Given the description of an element on the screen output the (x, y) to click on. 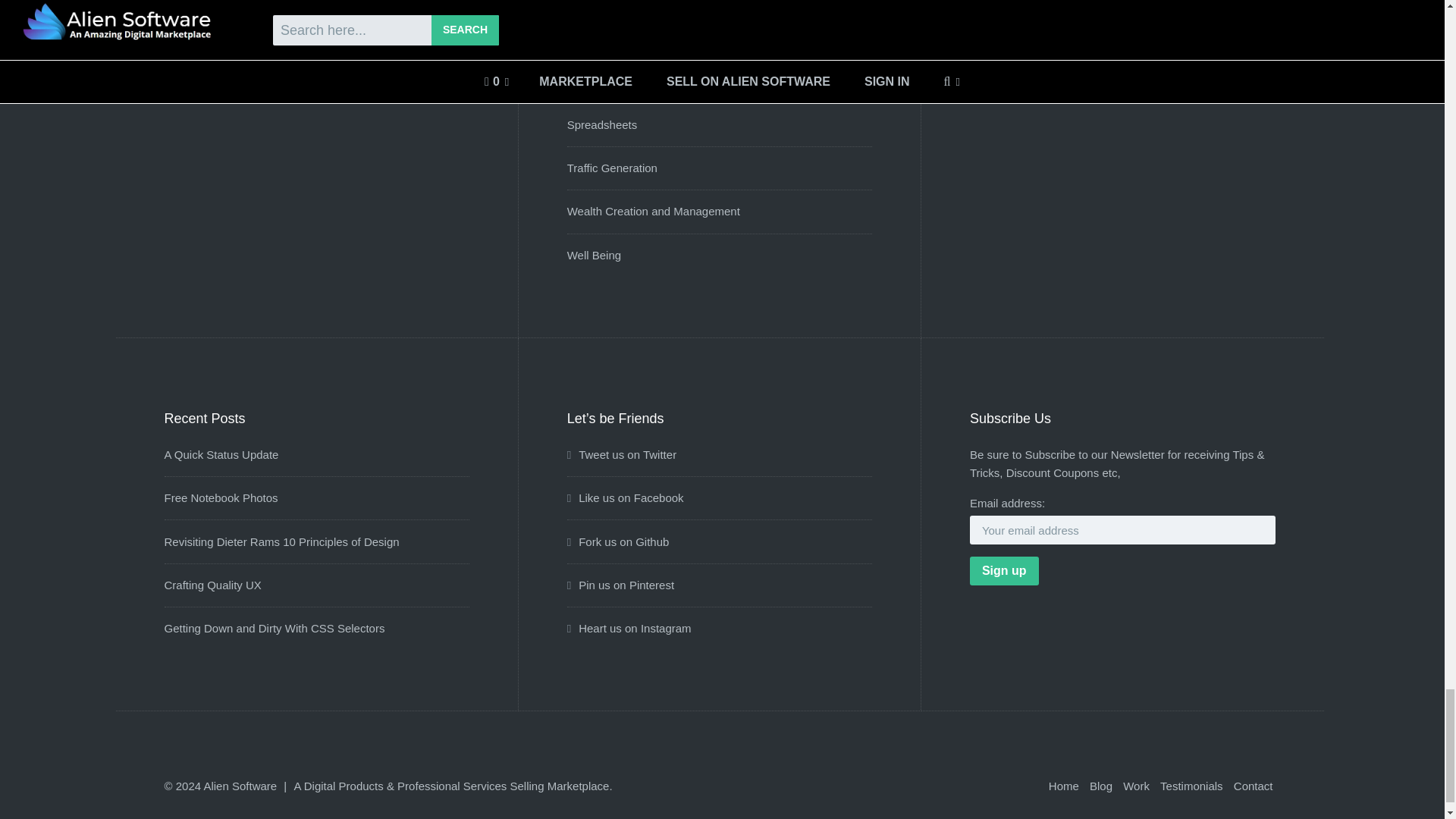
Sign up (1004, 570)
